Given the description of an element on the screen output the (x, y) to click on. 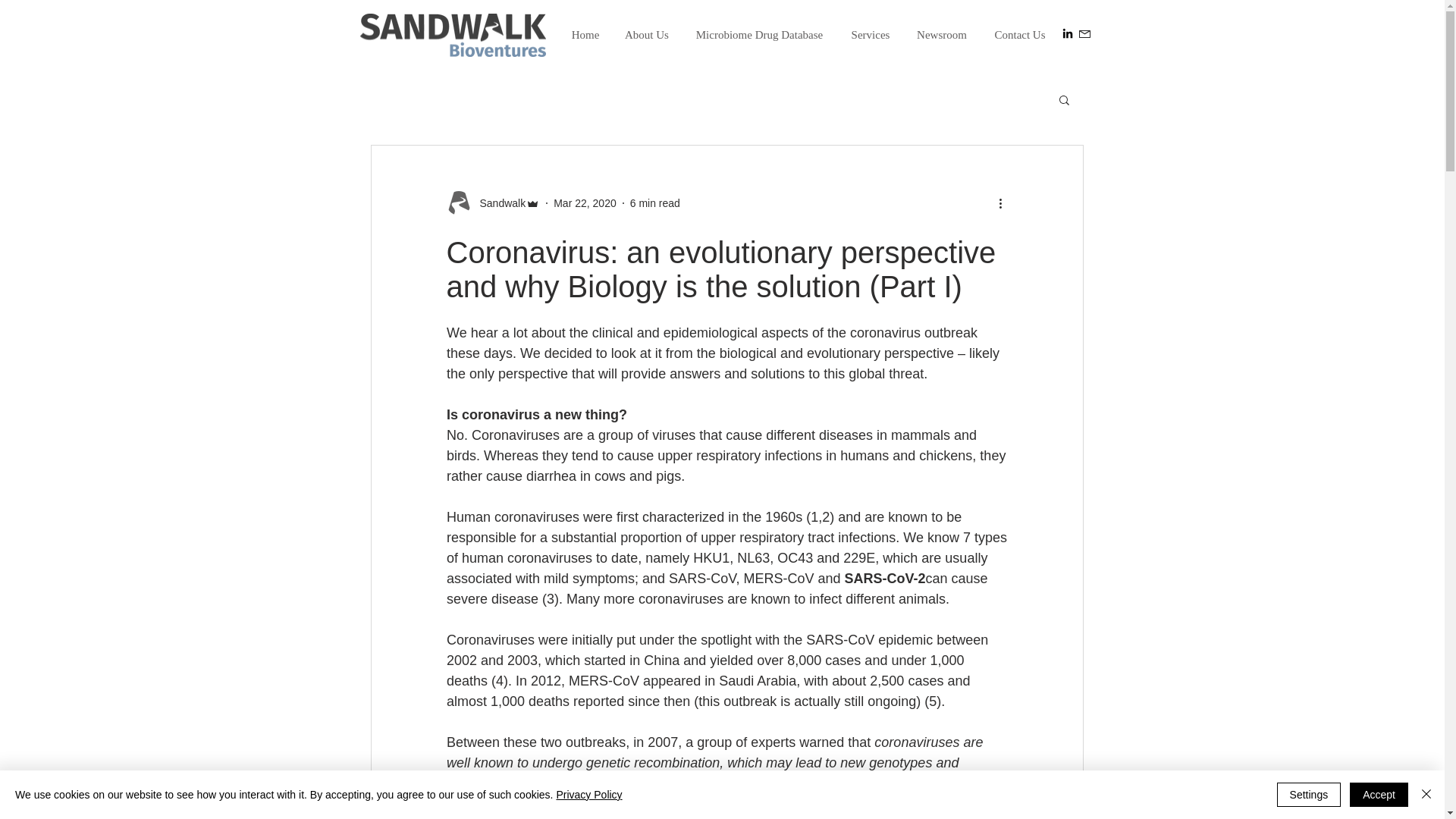
Mar 22, 2020 (584, 203)
Microbiome Drug Database (759, 35)
Contact Us (1019, 35)
Home (584, 35)
About Us (646, 35)
Newsroom (941, 35)
6 min read (654, 203)
Services (869, 35)
Sandwalk (497, 203)
